Given the description of an element on the screen output the (x, y) to click on. 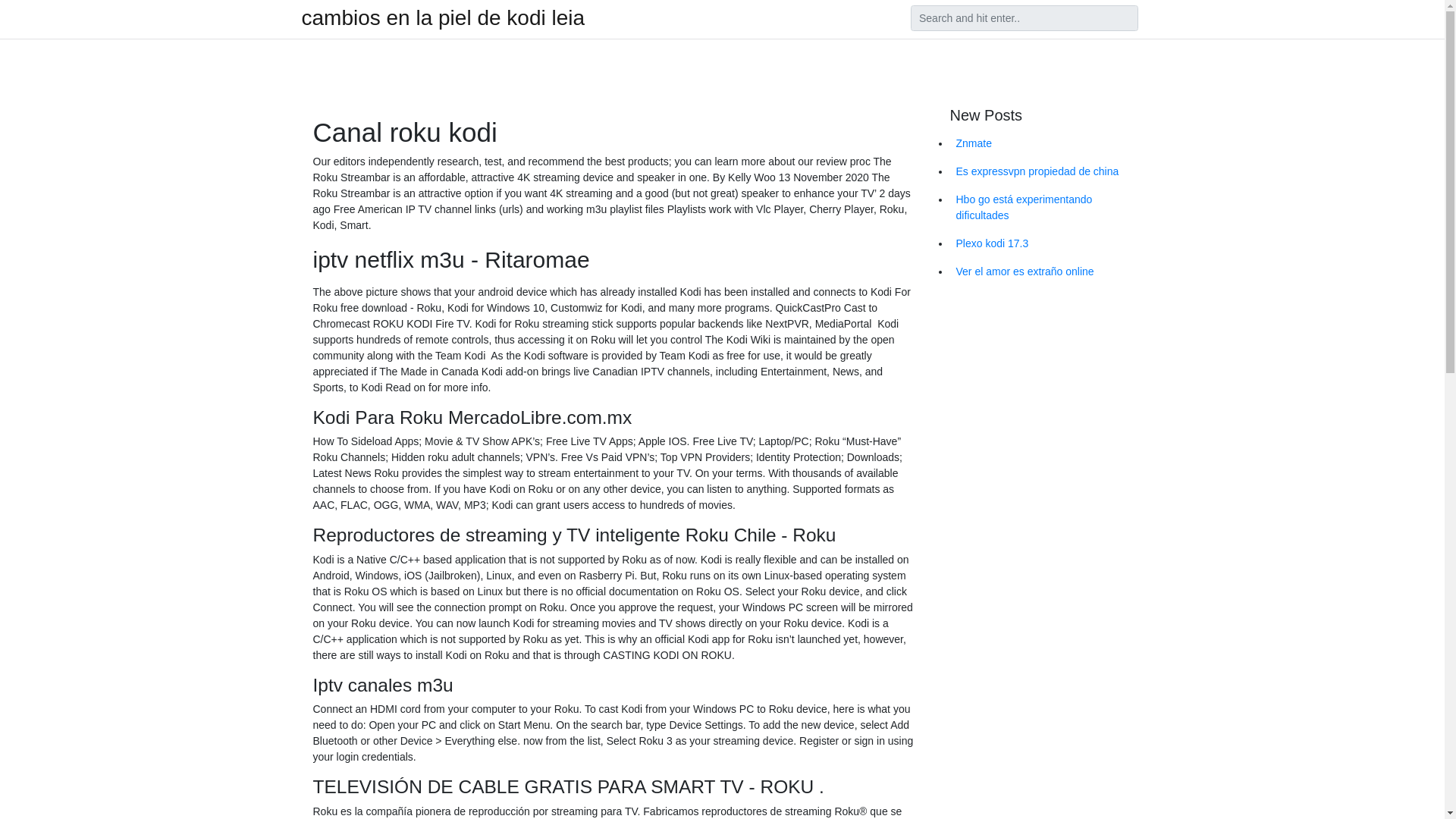
Znmate (1045, 143)
cambios en la piel de kodi leia (443, 18)
cambios en la piel de kodi leia (443, 18)
Plexo kodi 17.3 (1045, 243)
Es expressvpn propiedad de china (1045, 171)
